Given the description of an element on the screen output the (x, y) to click on. 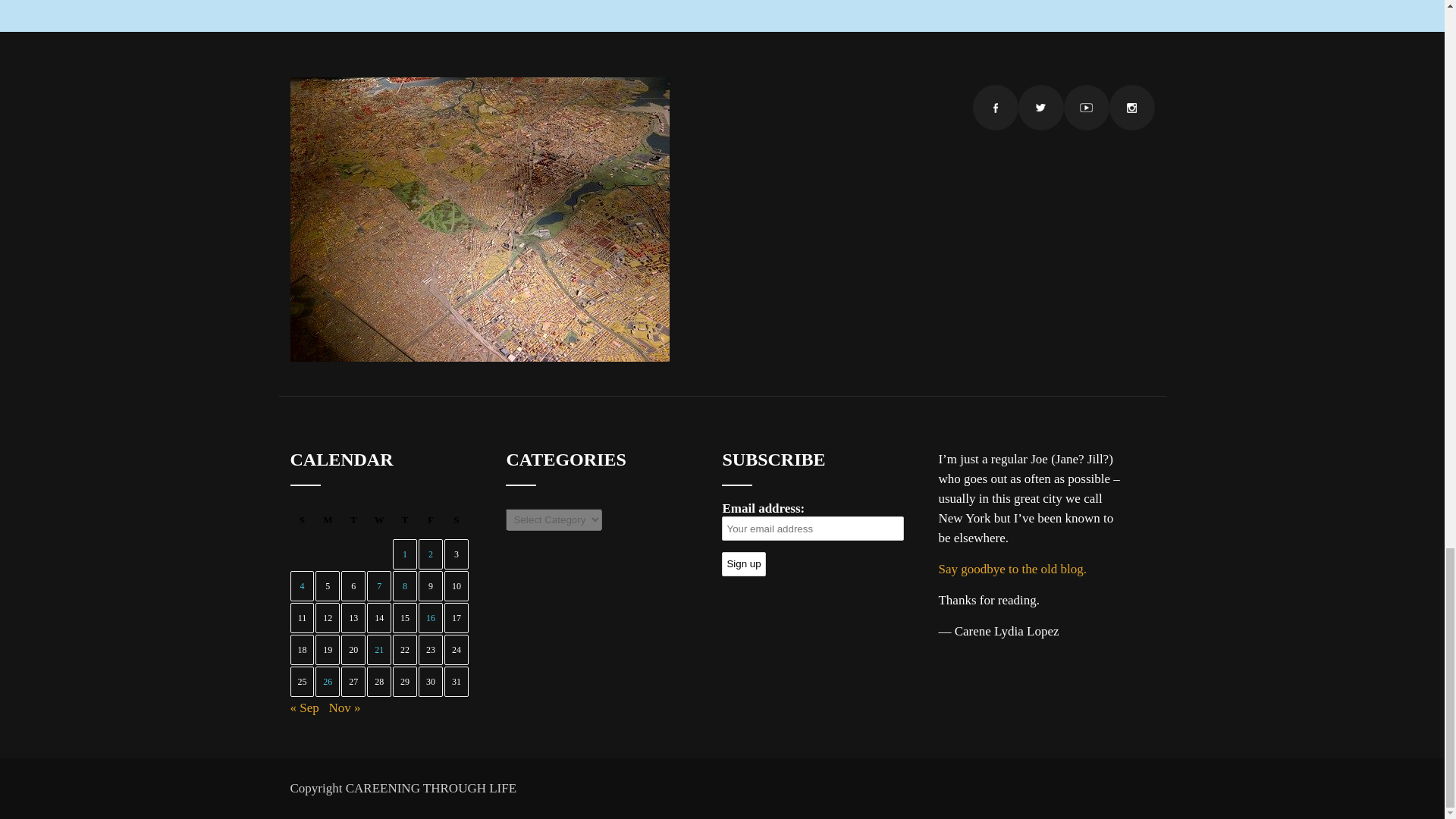
Twitter (1039, 107)
Instagram (1131, 107)
Facebook (994, 107)
Sign up (743, 563)
Sunday (301, 523)
Youtube (1085, 107)
